Given the description of an element on the screen output the (x, y) to click on. 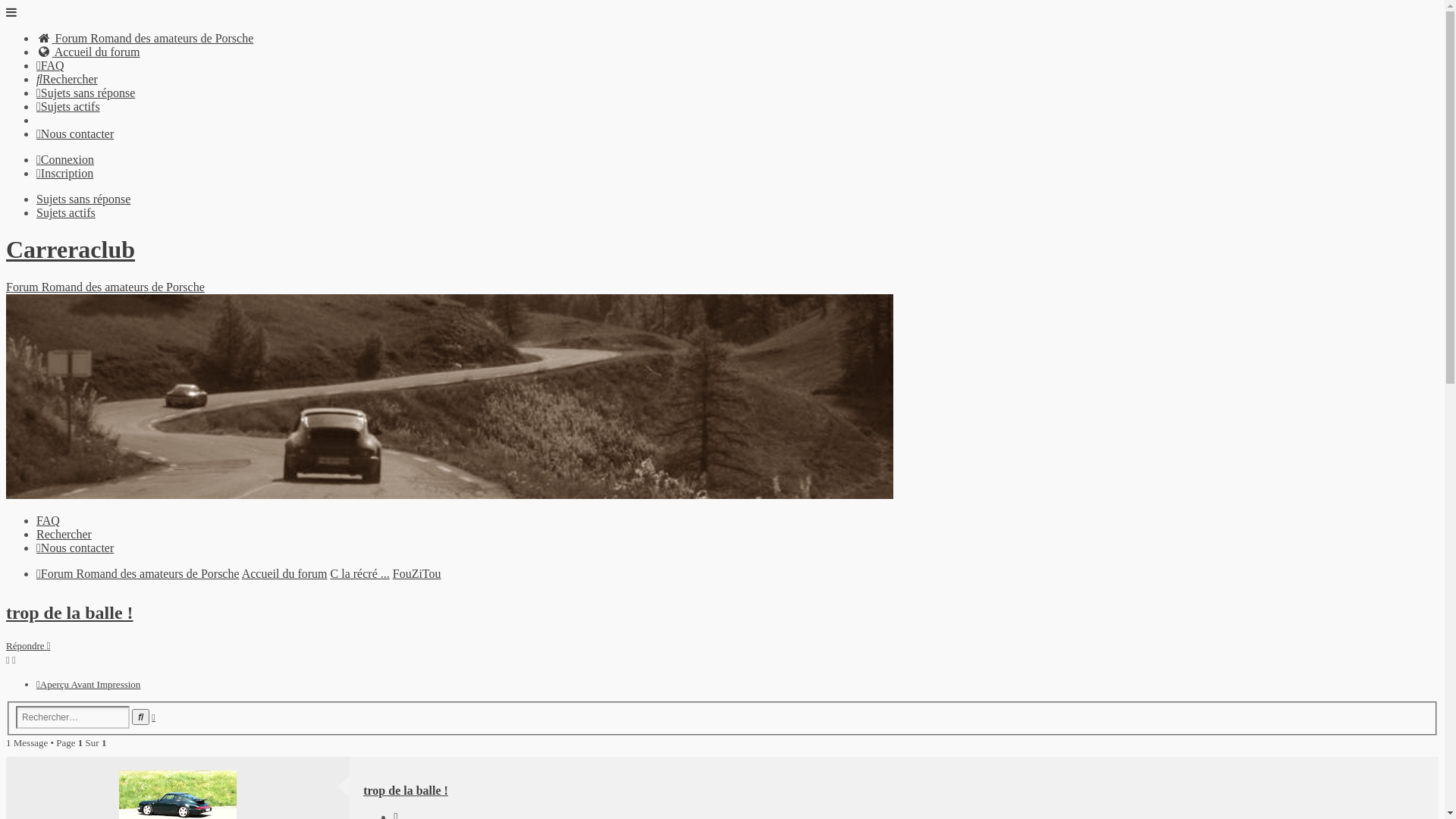
FouZiTou Element type: text (416, 573)
trop de la balle ! Element type: text (69, 612)
Outils du sujet Element type: hover (10, 659)
Forum Romand des amateurs de Porsche Element type: text (137, 573)
Accueil du forum Element type: text (284, 573)
Forum Romand des amateurs de Porsche Element type: text (144, 37)
Sujets actifs Element type: text (65, 212)
FAQ Element type: text (50, 65)
Connexion Element type: text (65, 159)
Nous contacter Element type: text (74, 547)
Rechercher Element type: text (66, 78)
Nous contacter Element type: text (74, 133)
FAQ Element type: text (47, 520)
Sujets actifs Element type: text (68, 106)
Carreraclub
Forum Romand des amateurs de Porsche Element type: text (722, 367)
Rechercher Element type: text (63, 533)
Accueil du forum Element type: text (88, 51)
Rechercher Element type: text (140, 716)
Inscription Element type: text (64, 172)
trop de la balle ! Element type: text (405, 790)
